Given the description of an element on the screen output the (x, y) to click on. 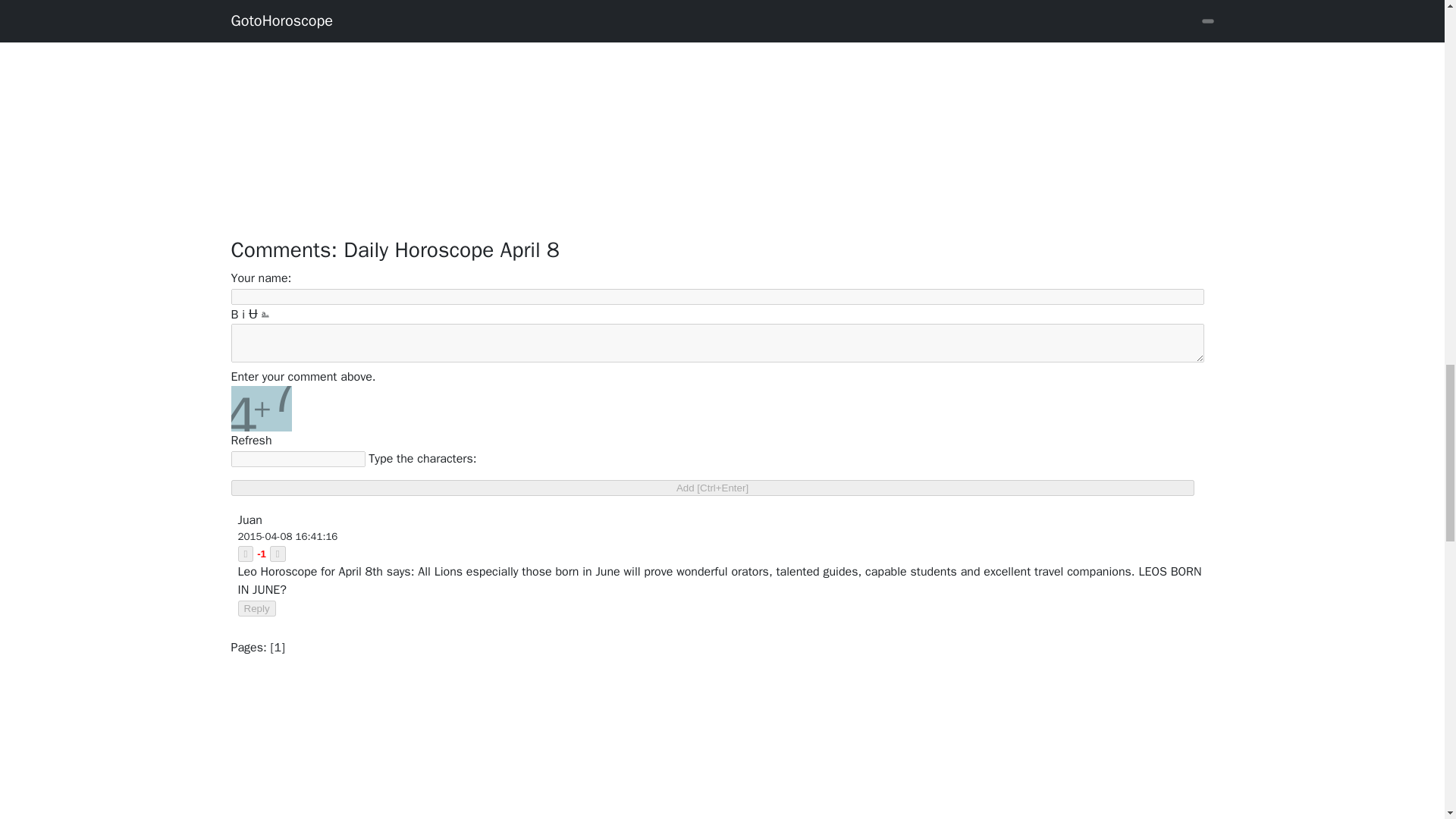
Refresh (250, 440)
Reply (257, 608)
Today Horoscope April 12, 2015 (721, 6)
